Given the description of an element on the screen output the (x, y) to click on. 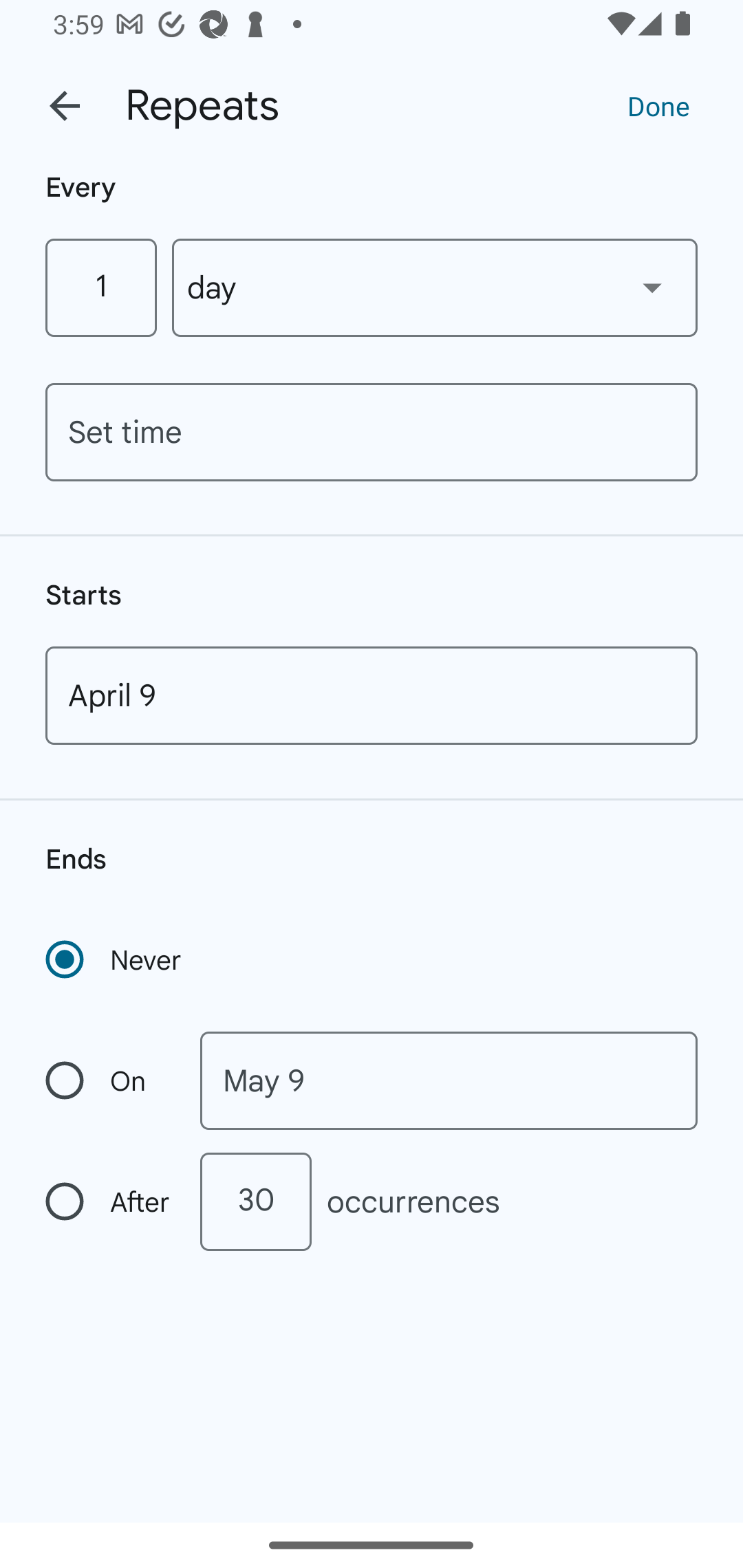
Back (64, 105)
Done (658, 105)
1 (100, 287)
day (434, 287)
Show dropdown menu (652, 286)
Set time (371, 431)
April 9 (371, 695)
Never Recurrence never ends (115, 959)
May 9 (448, 1080)
On Recurrence ends on a specific date (109, 1080)
30 (255, 1201)
